Given the description of an element on the screen output the (x, y) to click on. 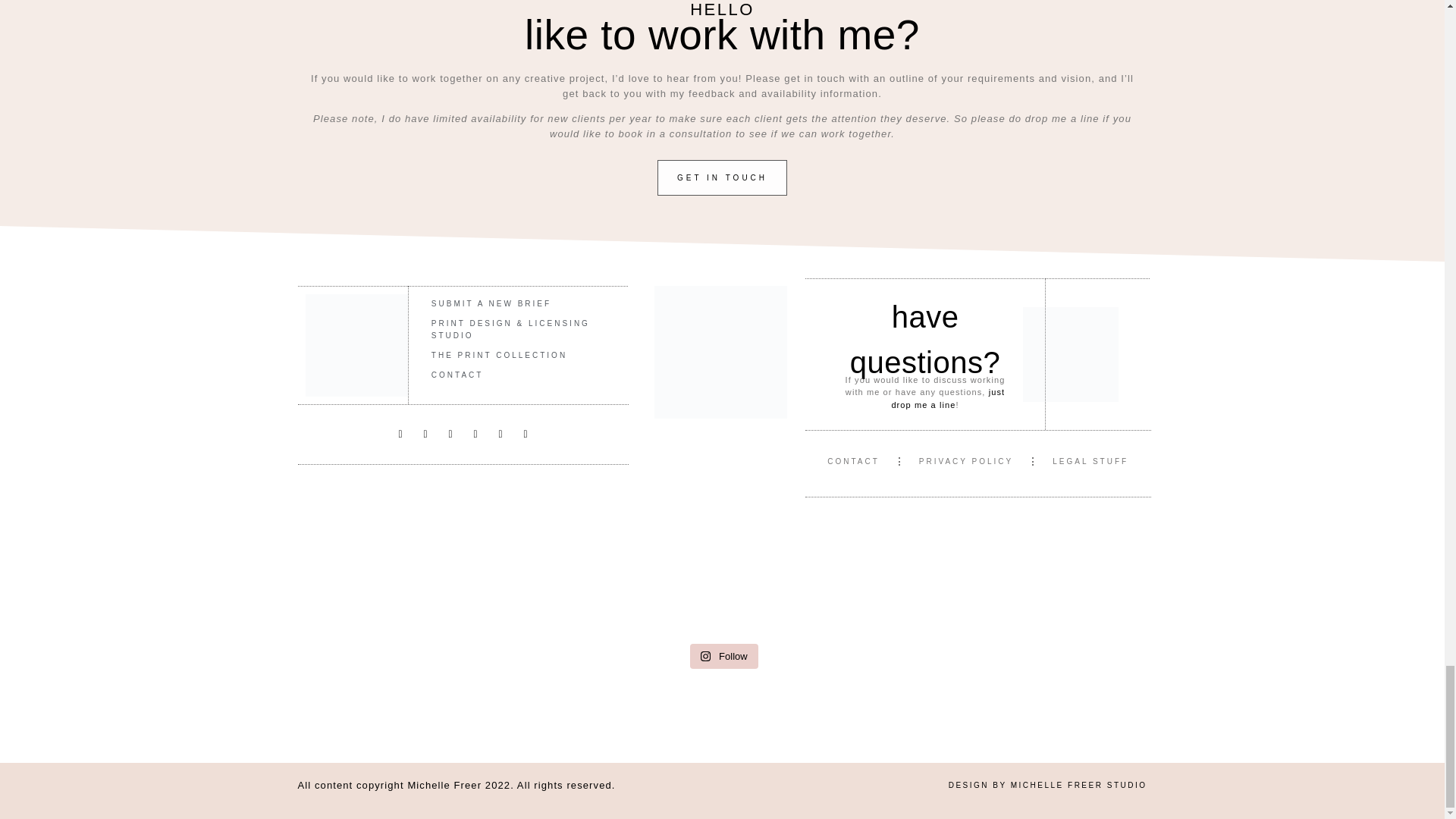
CONTACT (518, 374)
THE PRINT COLLECTION (518, 355)
SUBMIT A NEW BRIEF (518, 303)
GET IN TOUCH (722, 177)
